Given the description of an element on the screen output the (x, y) to click on. 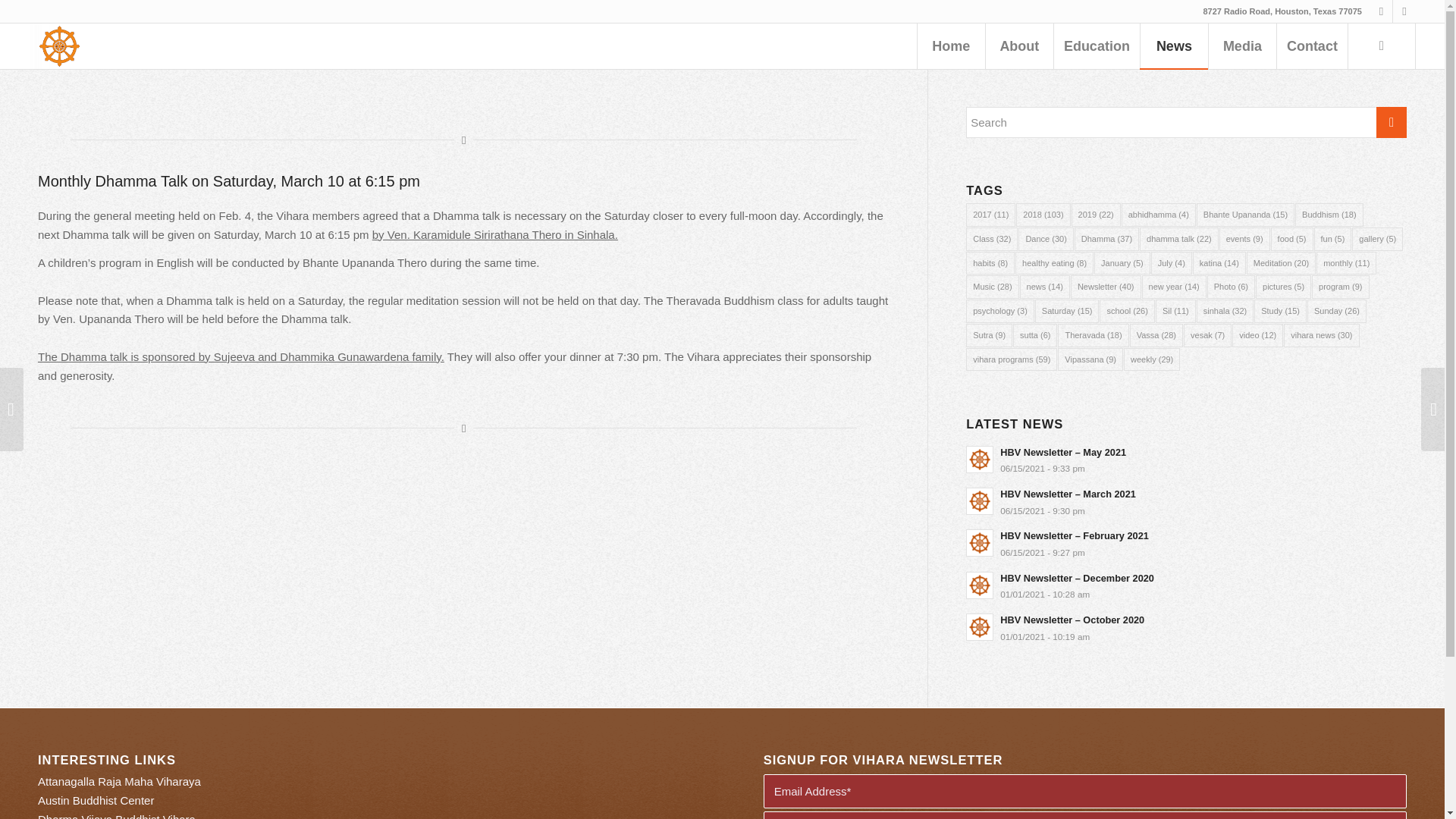
Contact (1312, 45)
Education (1096, 45)
Media (1242, 45)
About (1018, 45)
News (1174, 45)
Facebook (1380, 11)
Youtube (1404, 11)
Home (951, 45)
